Given the description of an element on the screen output the (x, y) to click on. 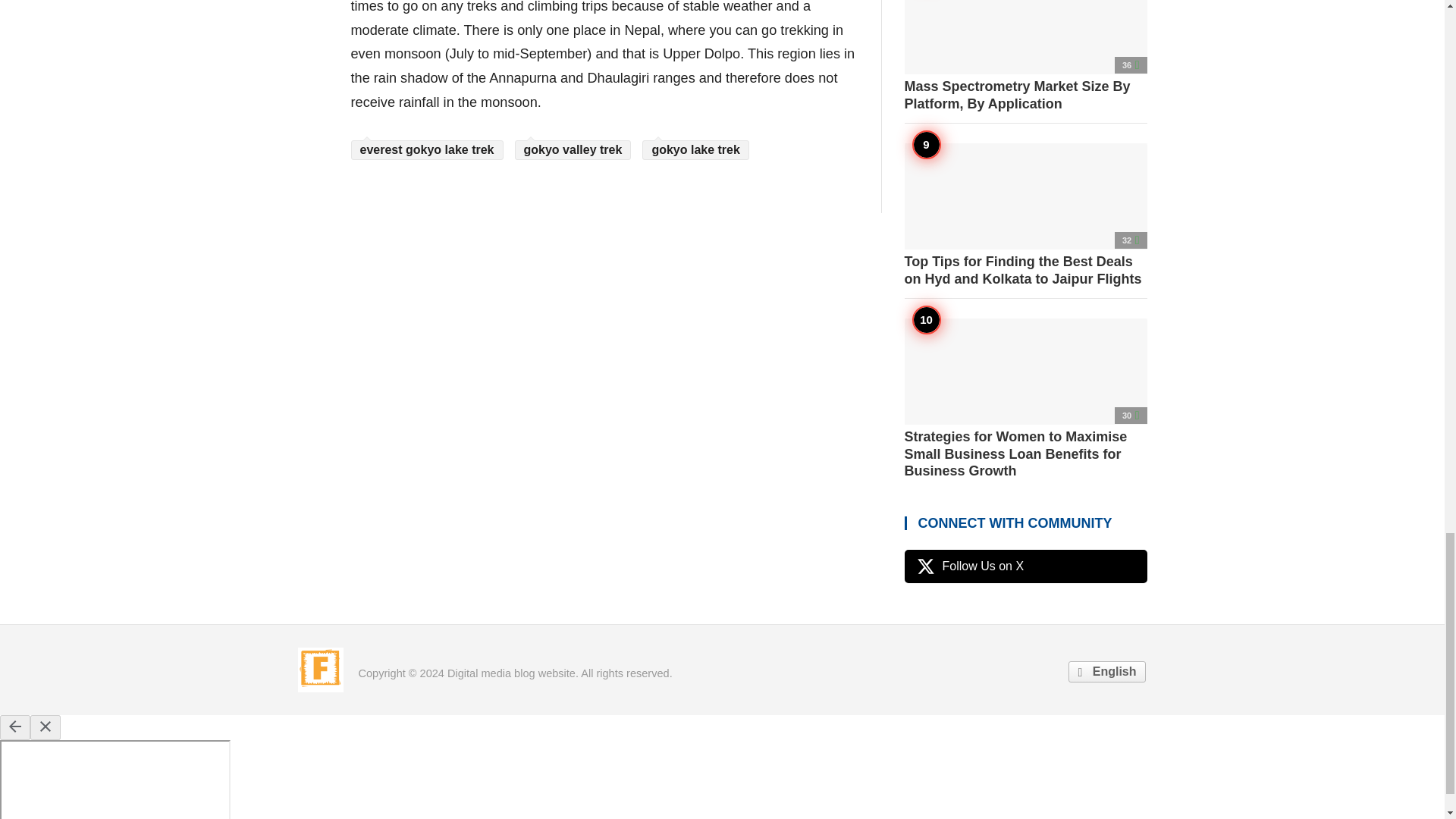
Mass Spectrometry Market Size By Platform, By Application (1025, 56)
